Given the description of an element on the screen output the (x, y) to click on. 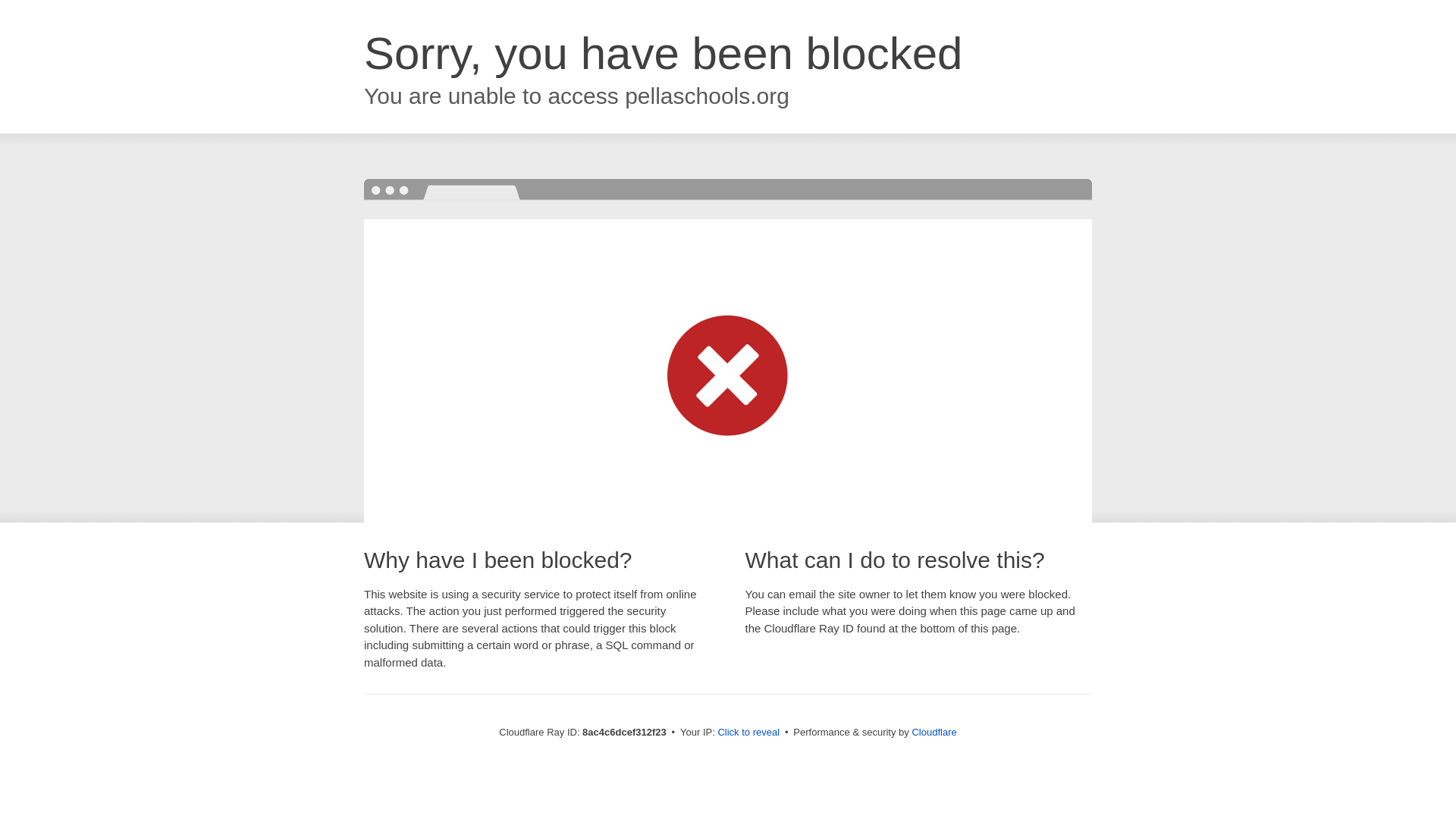
Cloudflare (933, 731)
Click to reveal (747, 732)
